Given the description of an element on the screen output the (x, y) to click on. 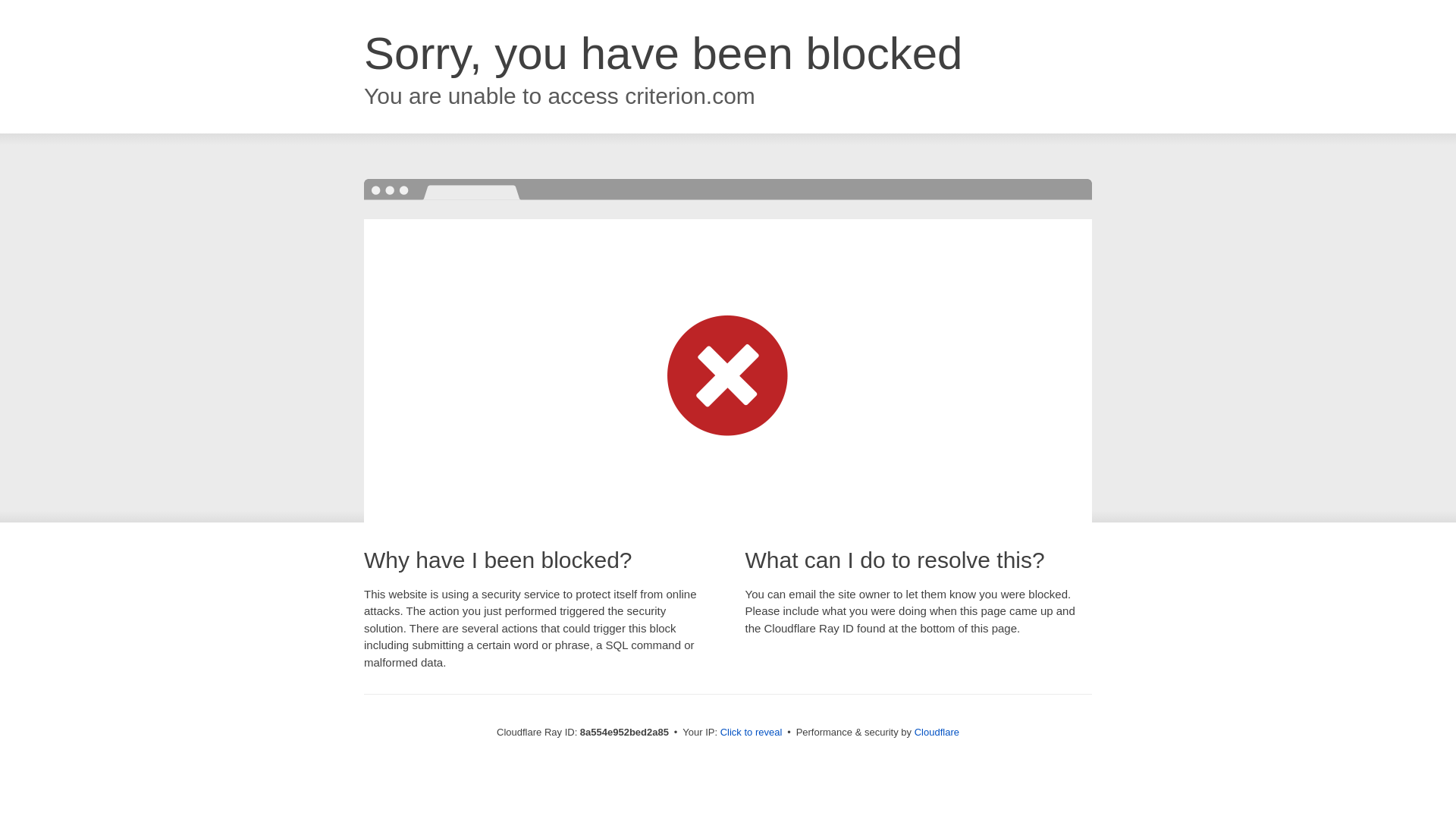
Click to reveal (751, 732)
Cloudflare (936, 731)
